Given the description of an element on the screen output the (x, y) to click on. 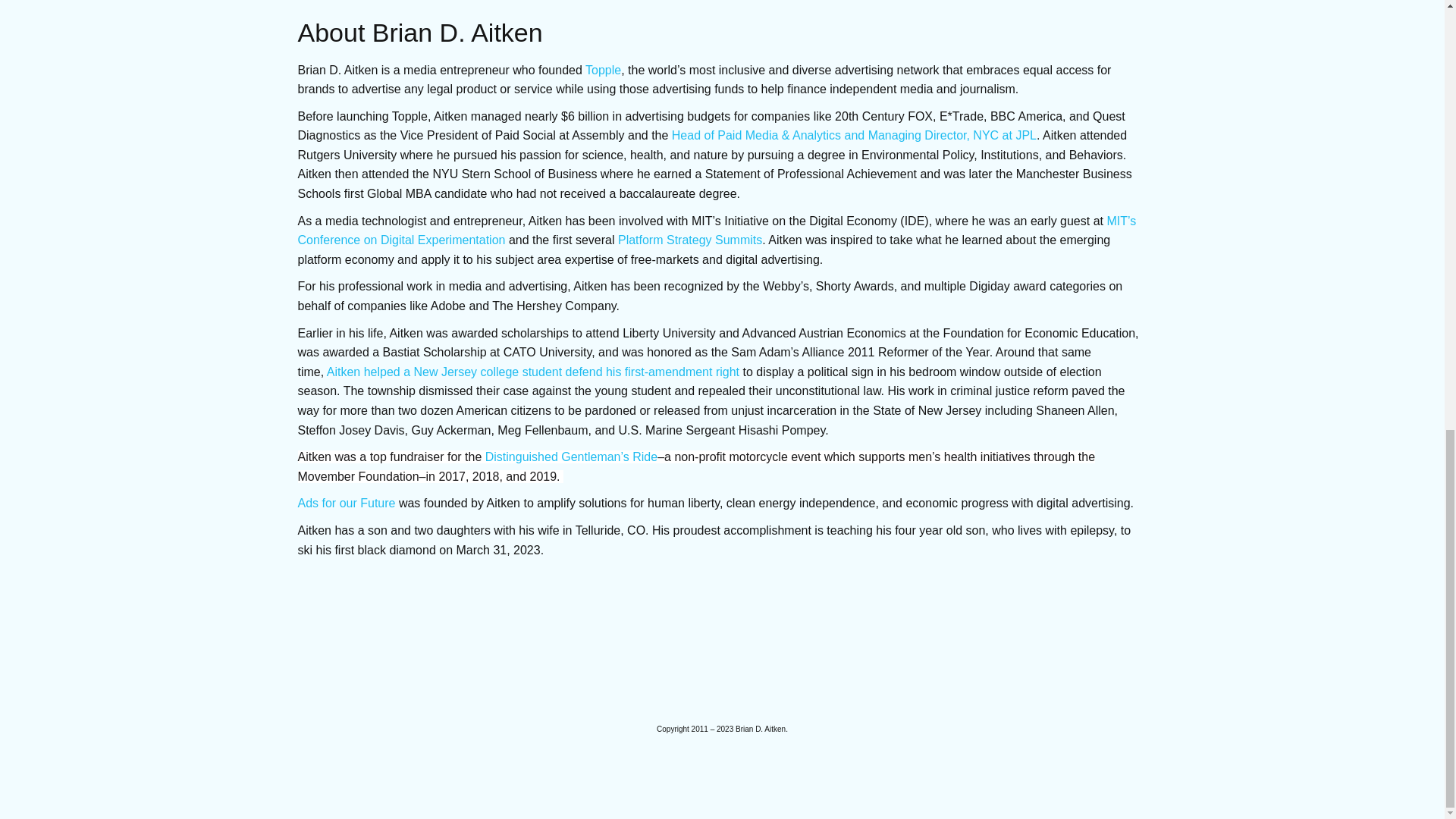
Platform Strategy Summits (689, 239)
Topple (603, 69)
Ads for our Future (345, 502)
